Given the description of an element on the screen output the (x, y) to click on. 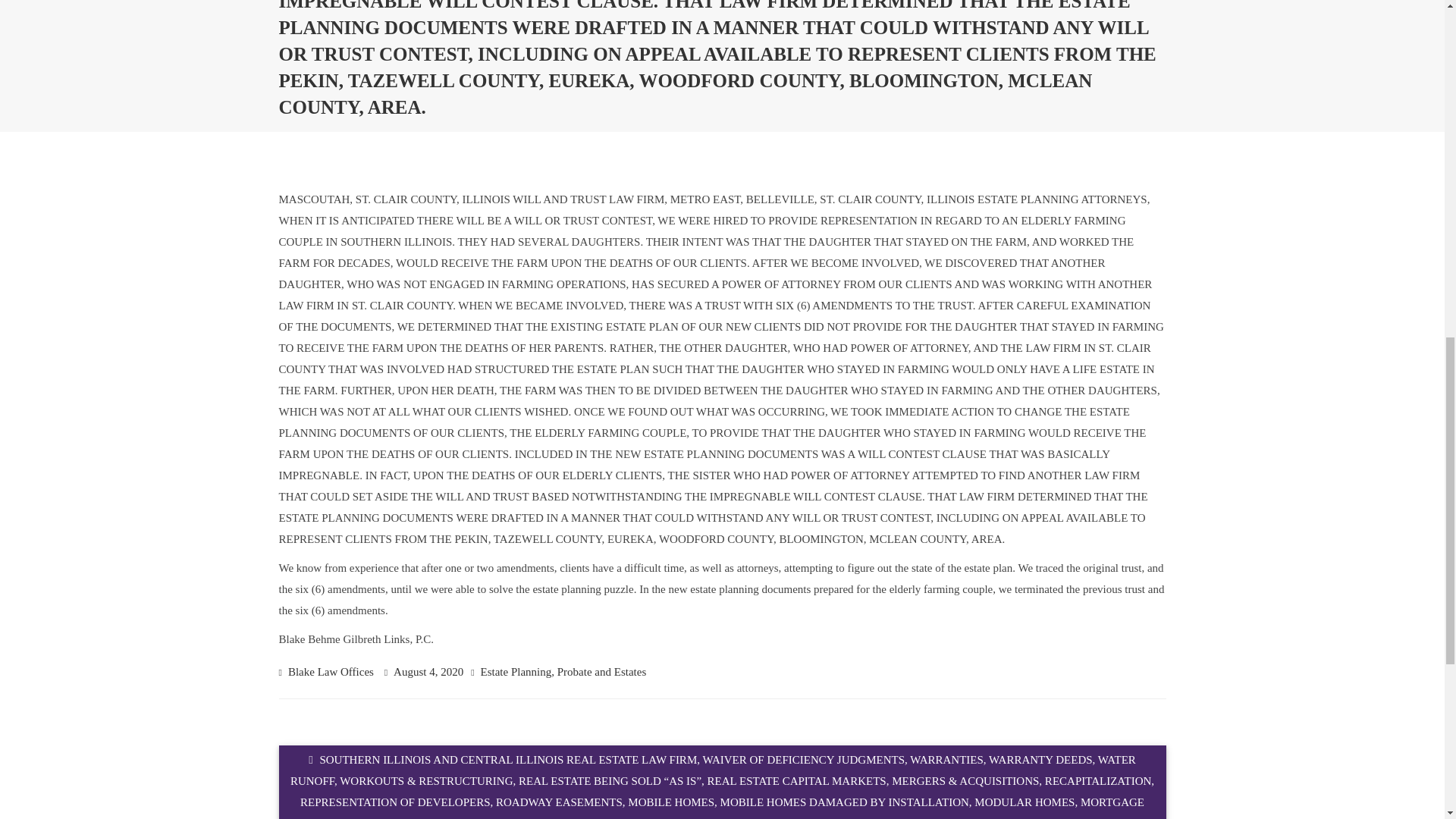
Estate Planning (515, 671)
Blake Law Offices (331, 671)
Probate and Estates (601, 671)
